Given the description of an element on the screen output the (x, y) to click on. 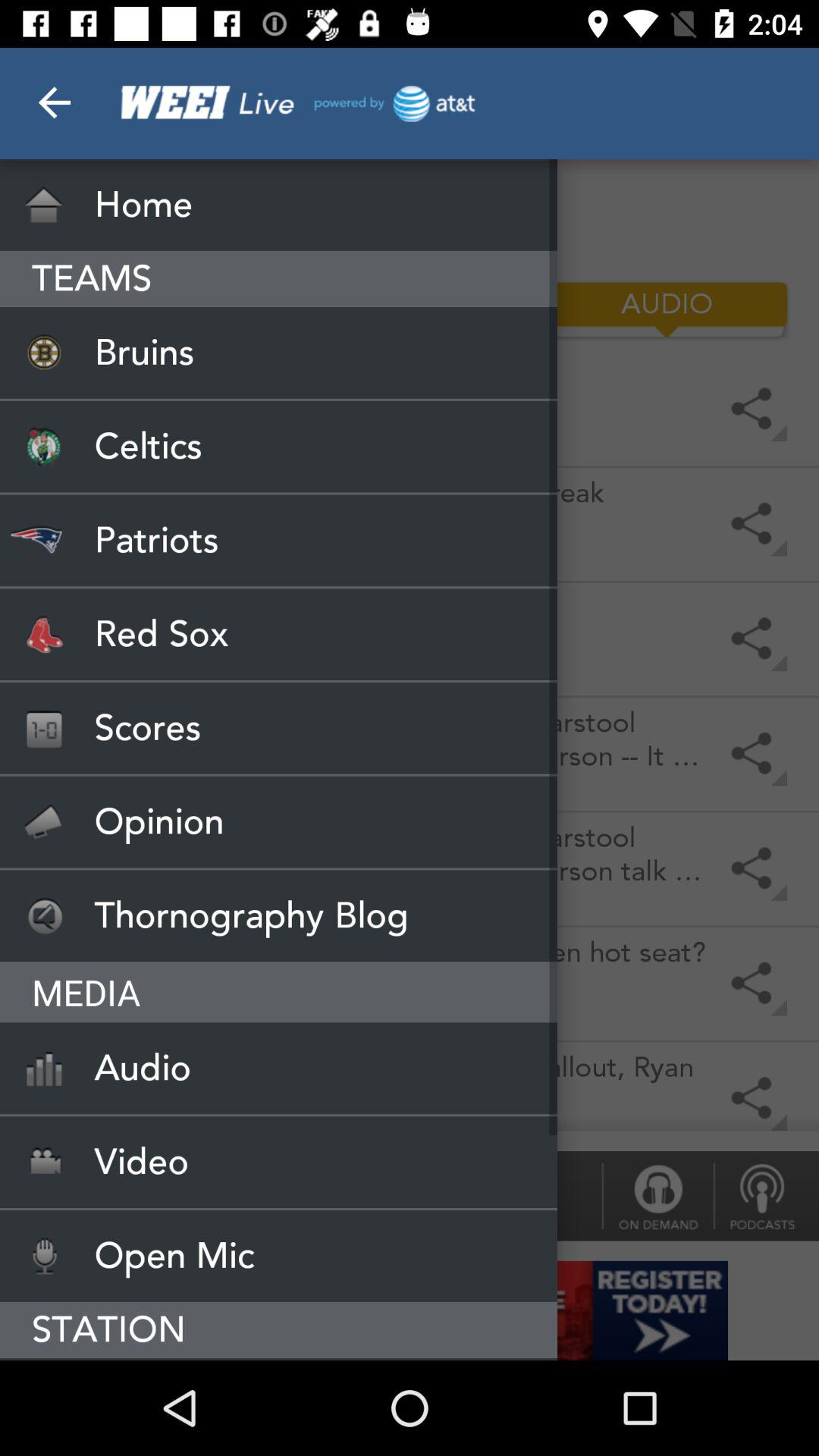
flip until video item (278, 1162)
